Given the description of an element on the screen output the (x, y) to click on. 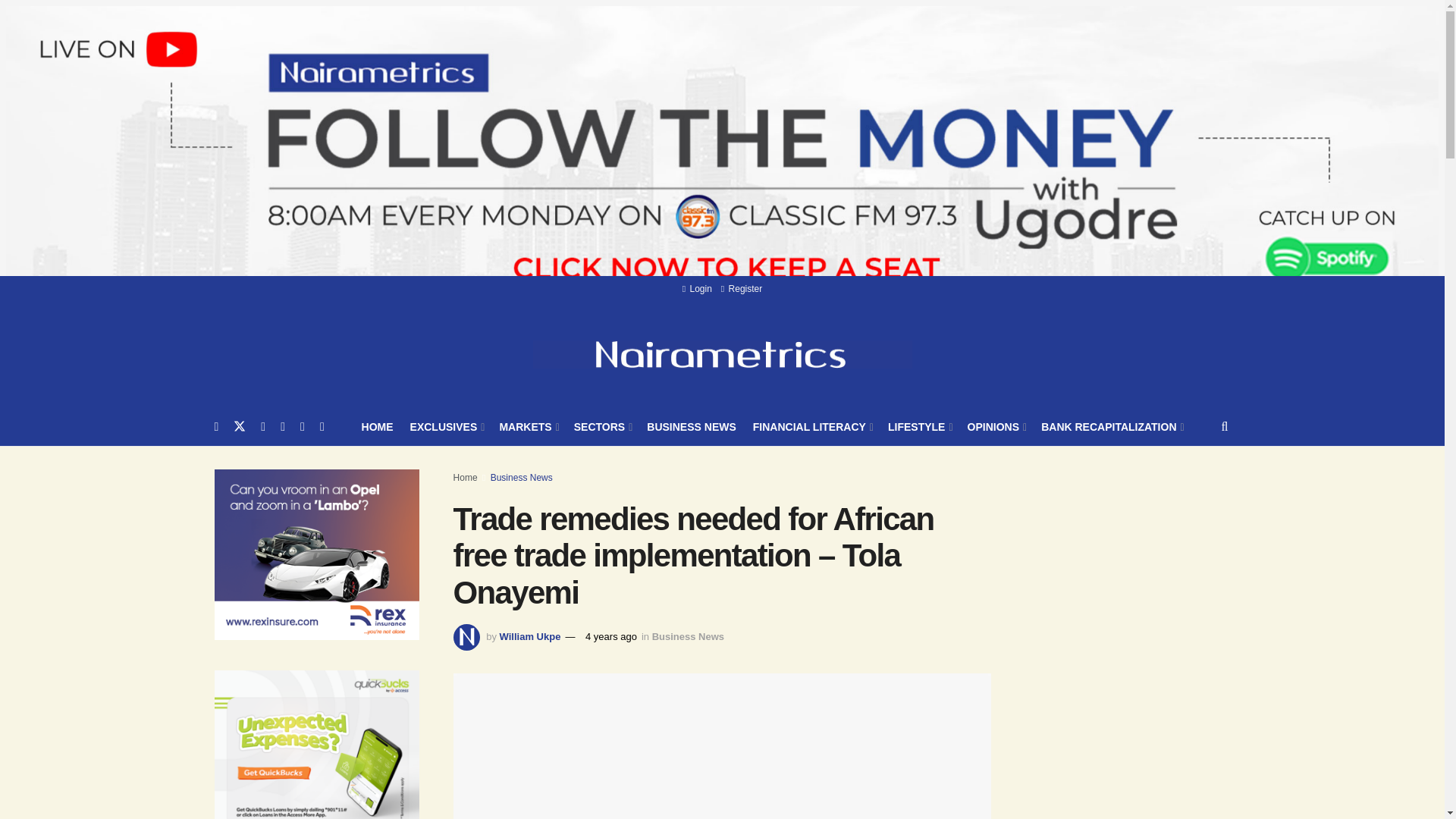
Register (740, 289)
MARKETS (527, 426)
SECTORS (601, 426)
Login (696, 289)
EXCLUSIVES (446, 426)
HOME (377, 426)
